Given the description of an element on the screen output the (x, y) to click on. 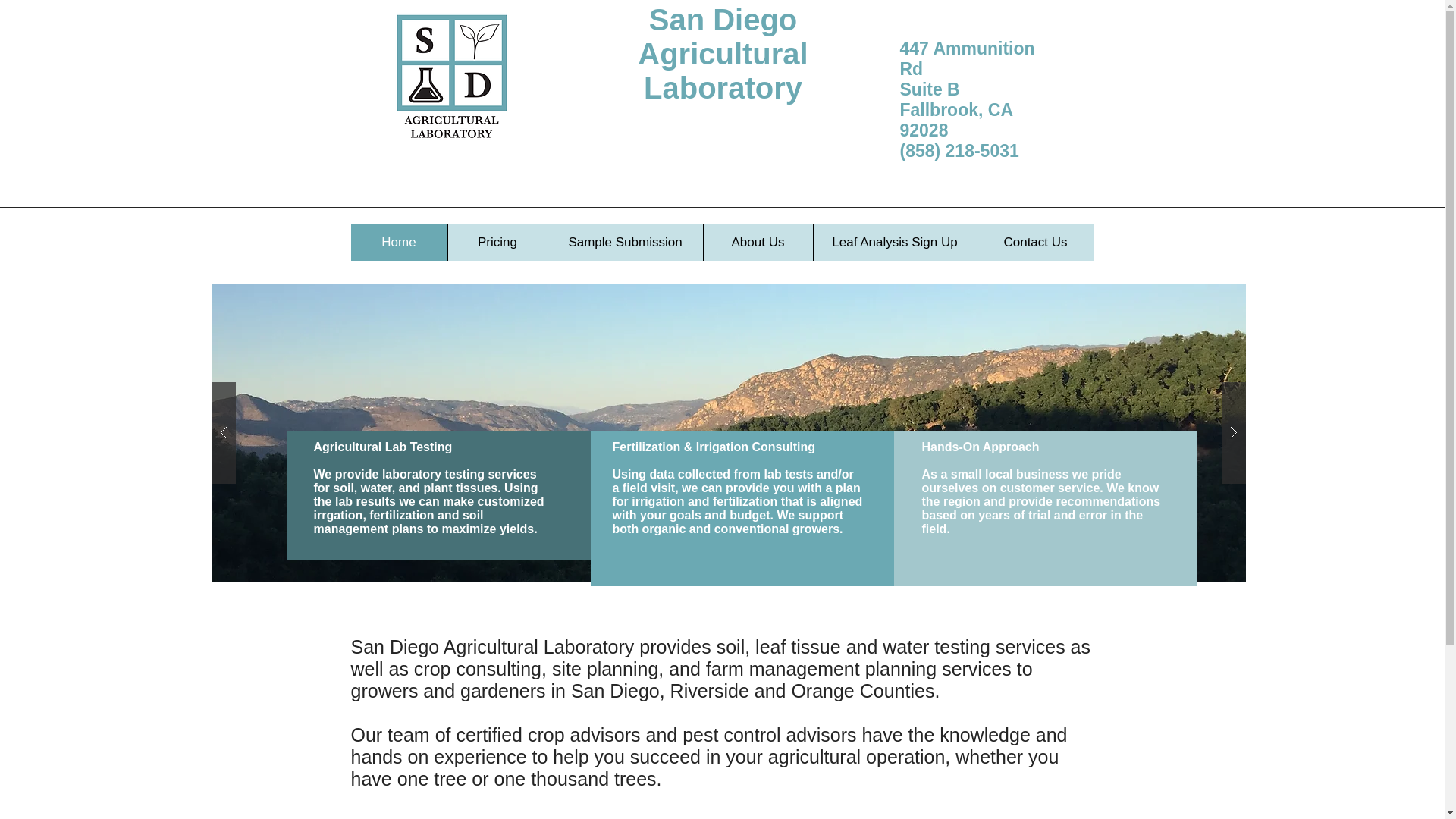
About Us (756, 242)
Sample Submission (625, 242)
Leaf Analysis Sign Up (894, 242)
LOGO.png (453, 75)
Pricing (496, 242)
Home (398, 242)
Contact Us (1035, 242)
